Given the description of an element on the screen output the (x, y) to click on. 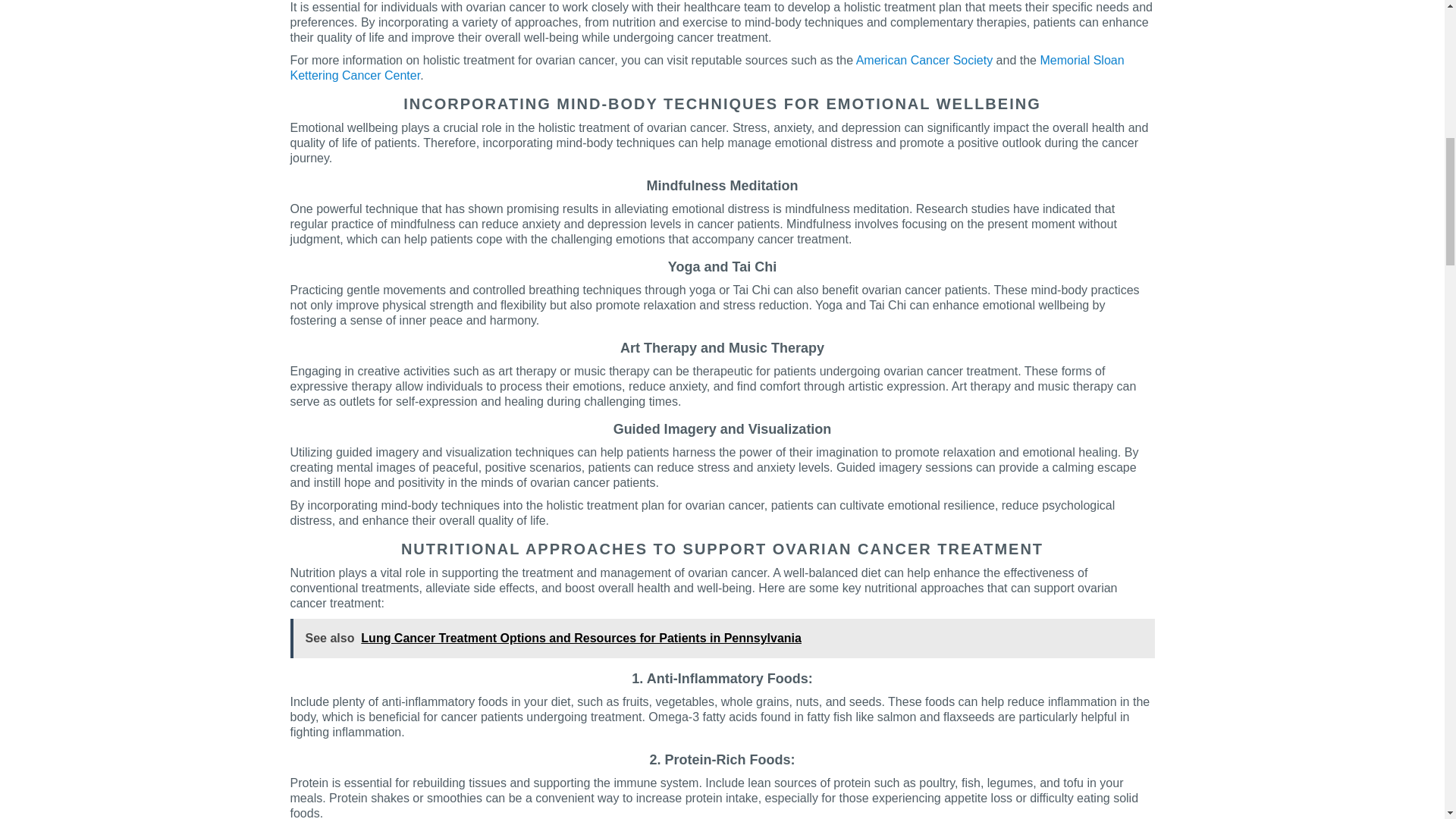
Memorial Sloan Kettering Cancer Center (706, 67)
American Cancer Society (924, 60)
